Given the description of an element on the screen output the (x, y) to click on. 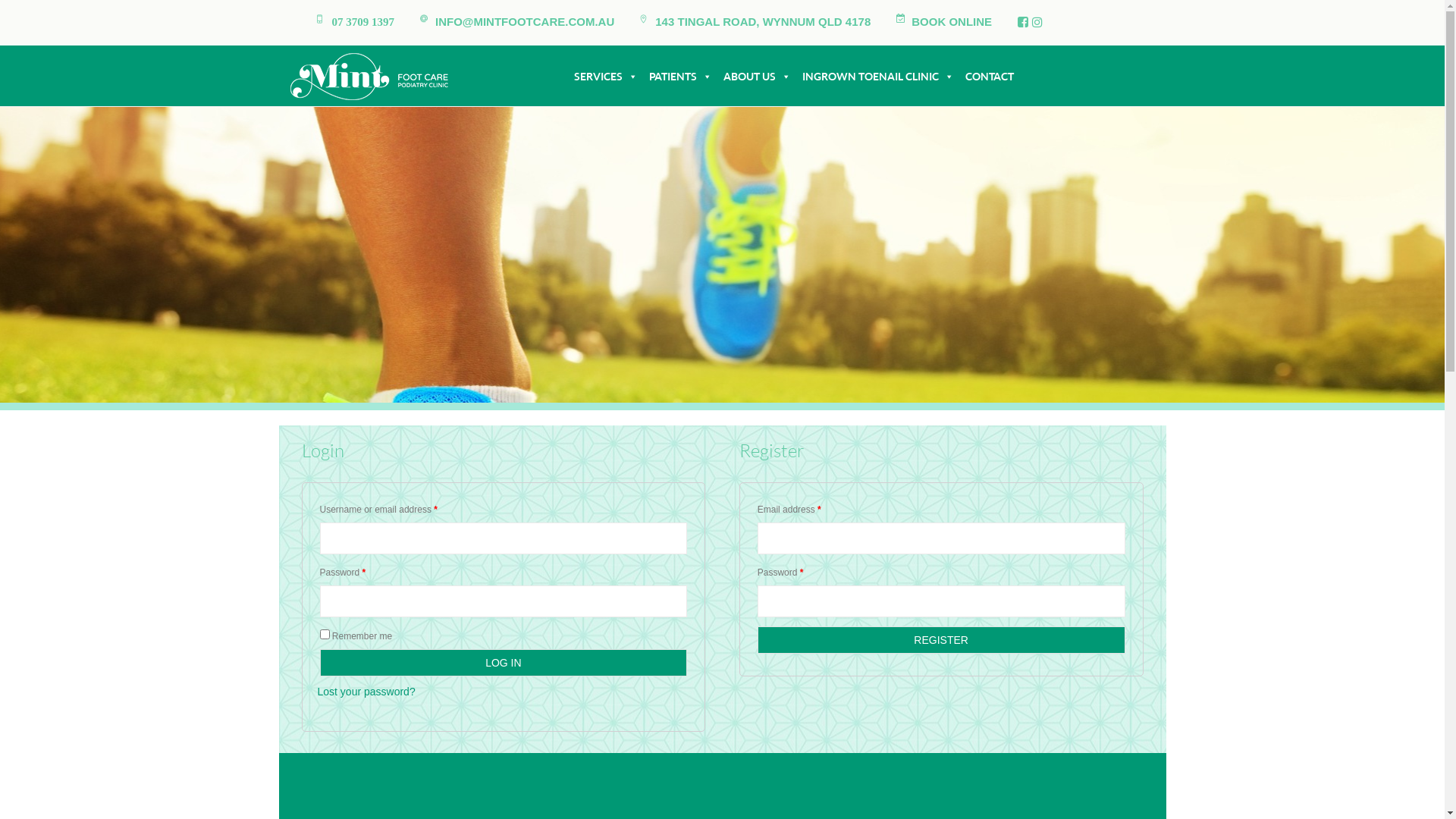
INFO@MINTFOOTCARE.COM.AU Element type: text (524, 22)
Lost your password? Element type: text (365, 691)
CONTACT Element type: text (986, 76)
ABOUT US Element type: text (754, 76)
LOG IN Element type: text (503, 662)
INGROWN TOENAIL CLINIC Element type: text (875, 76)
BOOK ONLINE Element type: text (951, 22)
SERVICES Element type: text (602, 76)
PATIENTS Element type: text (678, 76)
07 3709 1397 Element type: text (363, 22)
REGISTER Element type: text (941, 639)
